Given the description of an element on the screen output the (x, y) to click on. 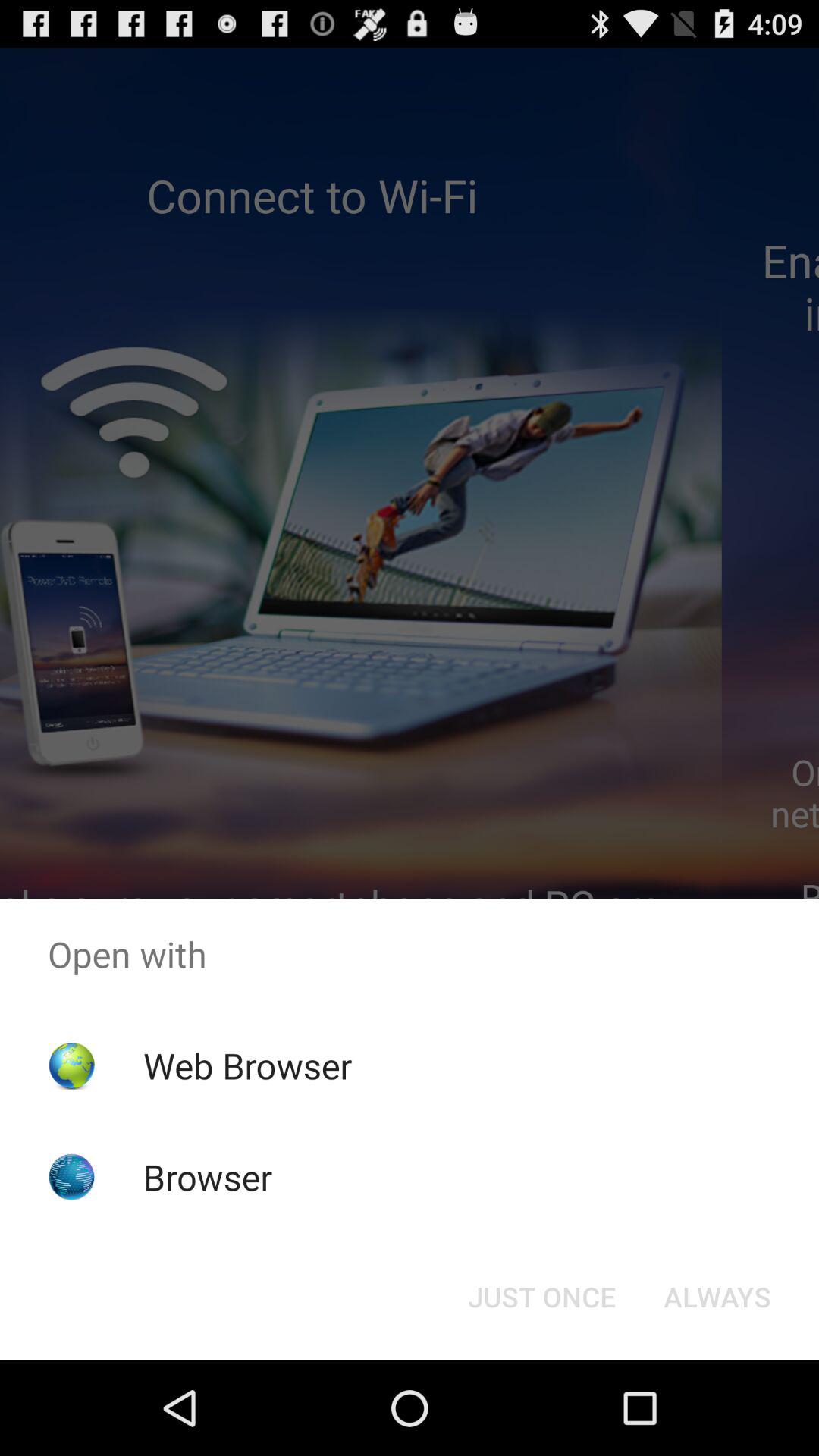
choose the item next to just once item (717, 1296)
